Given the description of an element on the screen output the (x, y) to click on. 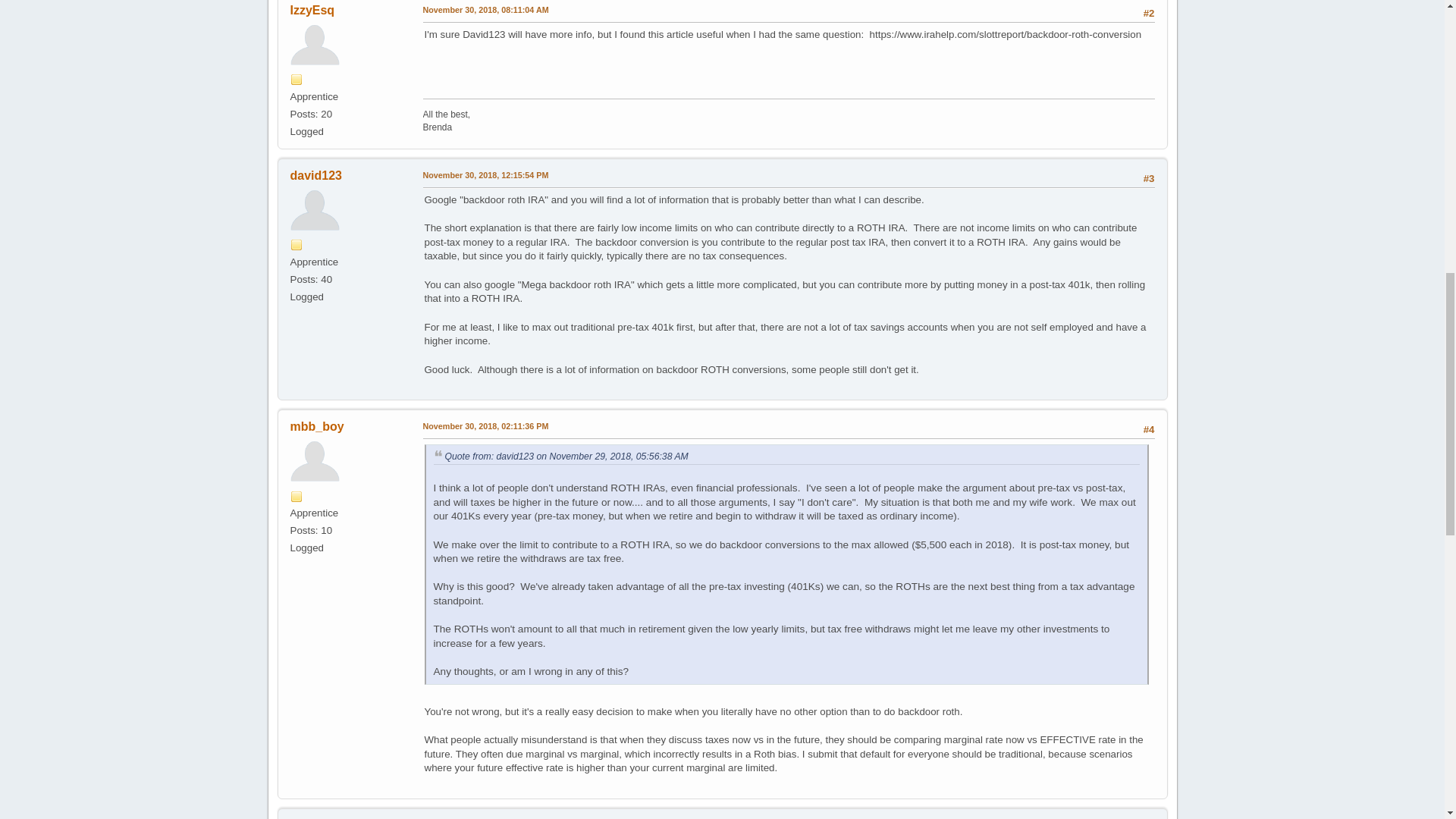
View the profile of david123 (314, 174)
November 30, 2018, 12:15:54 PM (485, 175)
Quote from: david123 on November 29, 2018, 05:56:38 AM (565, 456)
November 30, 2018, 02:11:36 PM (485, 427)
IzzyEsq (311, 10)
View the profile of IzzyEsq (311, 10)
November 30, 2018, 08:11:04 AM (485, 10)
david123 (314, 174)
